Given the description of an element on the screen output the (x, y) to click on. 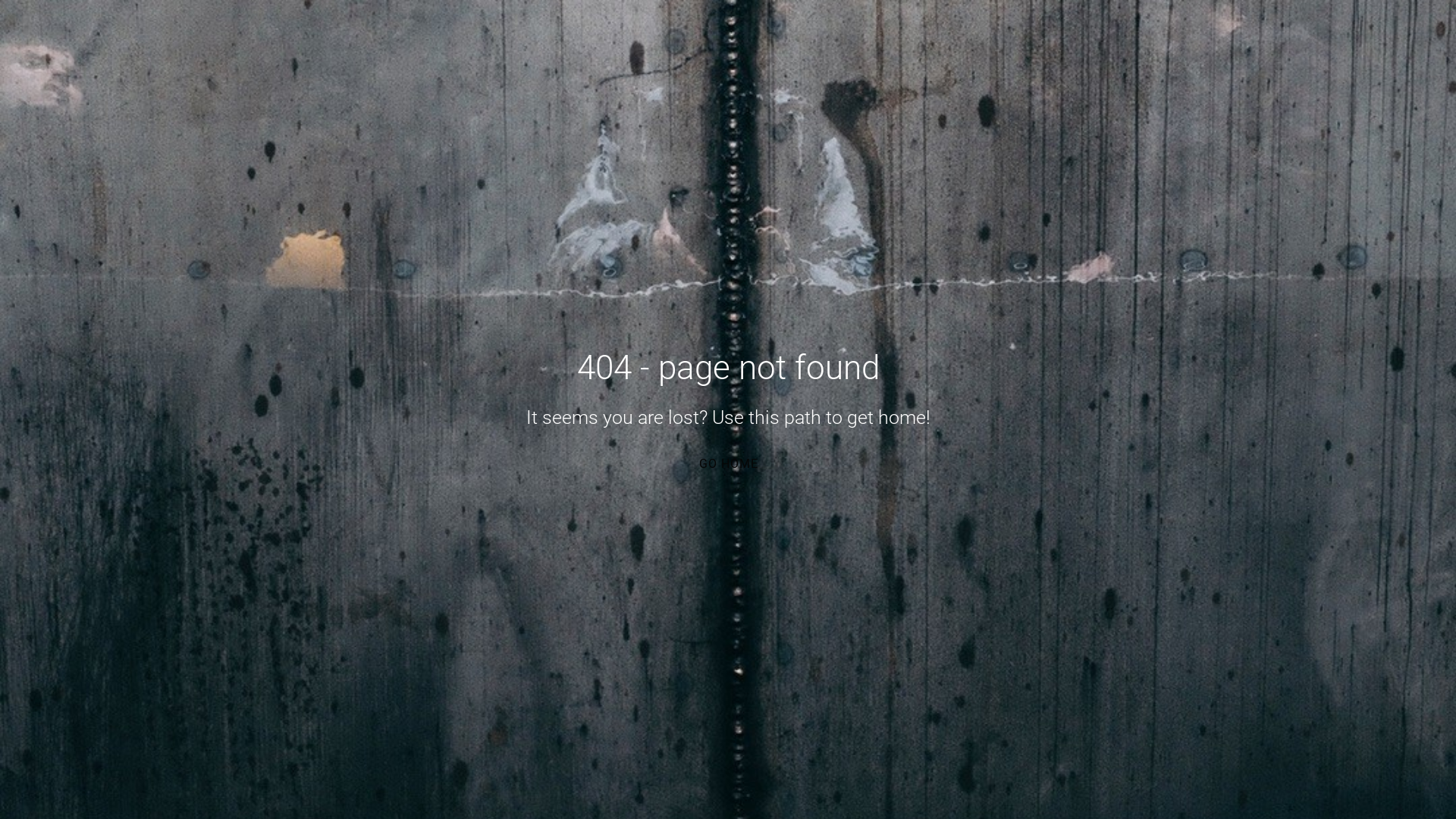
GO HOME Element type: text (727, 463)
